Given the description of an element on the screen output the (x, y) to click on. 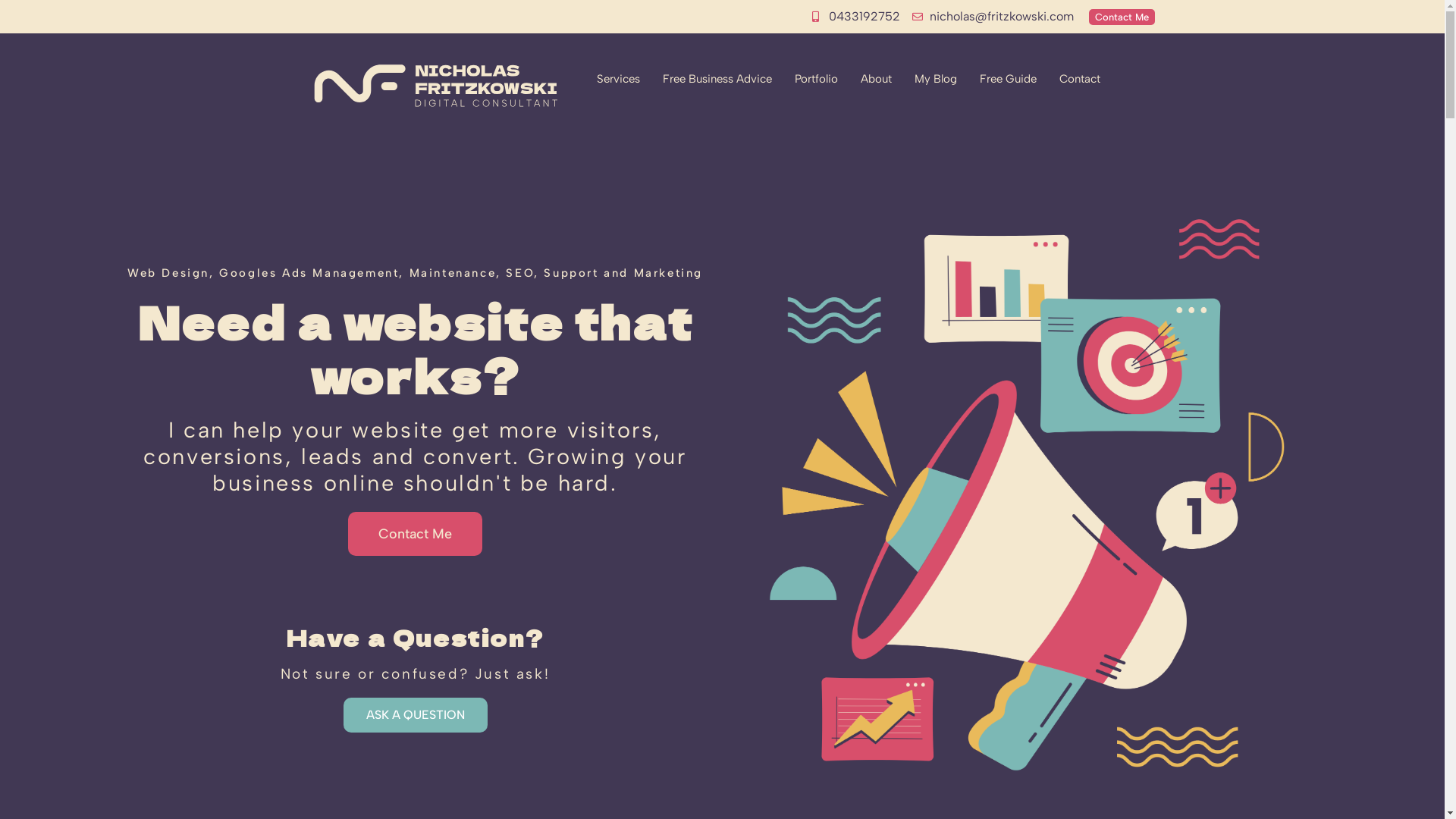
Free Business Advice Element type: text (717, 78)
Services Element type: text (618, 78)
ASK A QUESTION Element type: text (414, 714)
Portfolio Element type: text (816, 78)
Contact Me Element type: text (1121, 17)
0433192752 Element type: text (855, 16)
Contact Me Element type: text (415, 533)
My Blog Element type: text (935, 78)
nicholas@fritzkowski.com Element type: text (992, 16)
About Element type: text (876, 78)
Free Guide Element type: text (1008, 78)
Contact Element type: text (1079, 78)
